Given the description of an element on the screen output the (x, y) to click on. 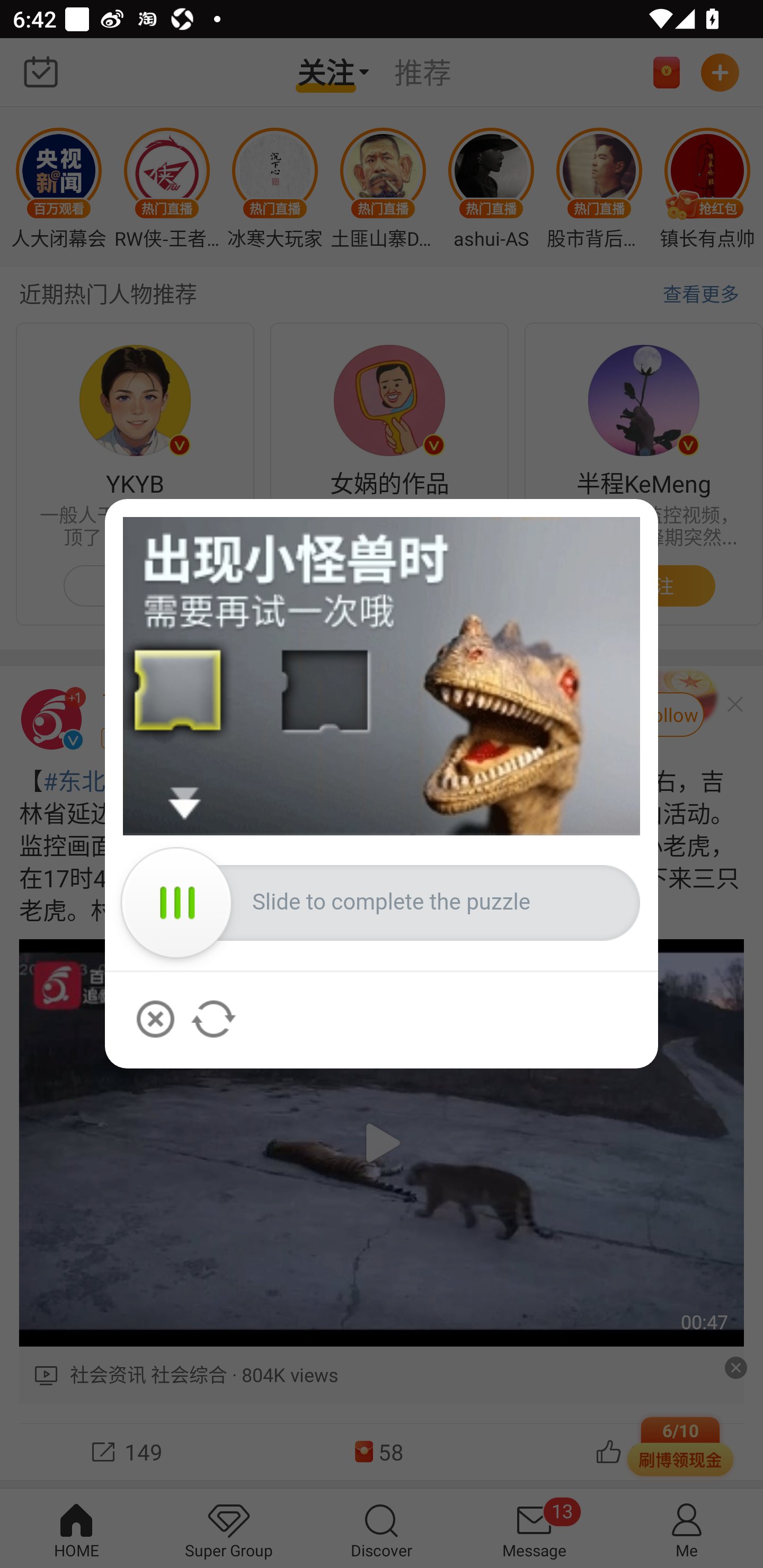
关闭验证 (154, 1018)
刷新验证 (213, 1018)
